Given the description of an element on the screen output the (x, y) to click on. 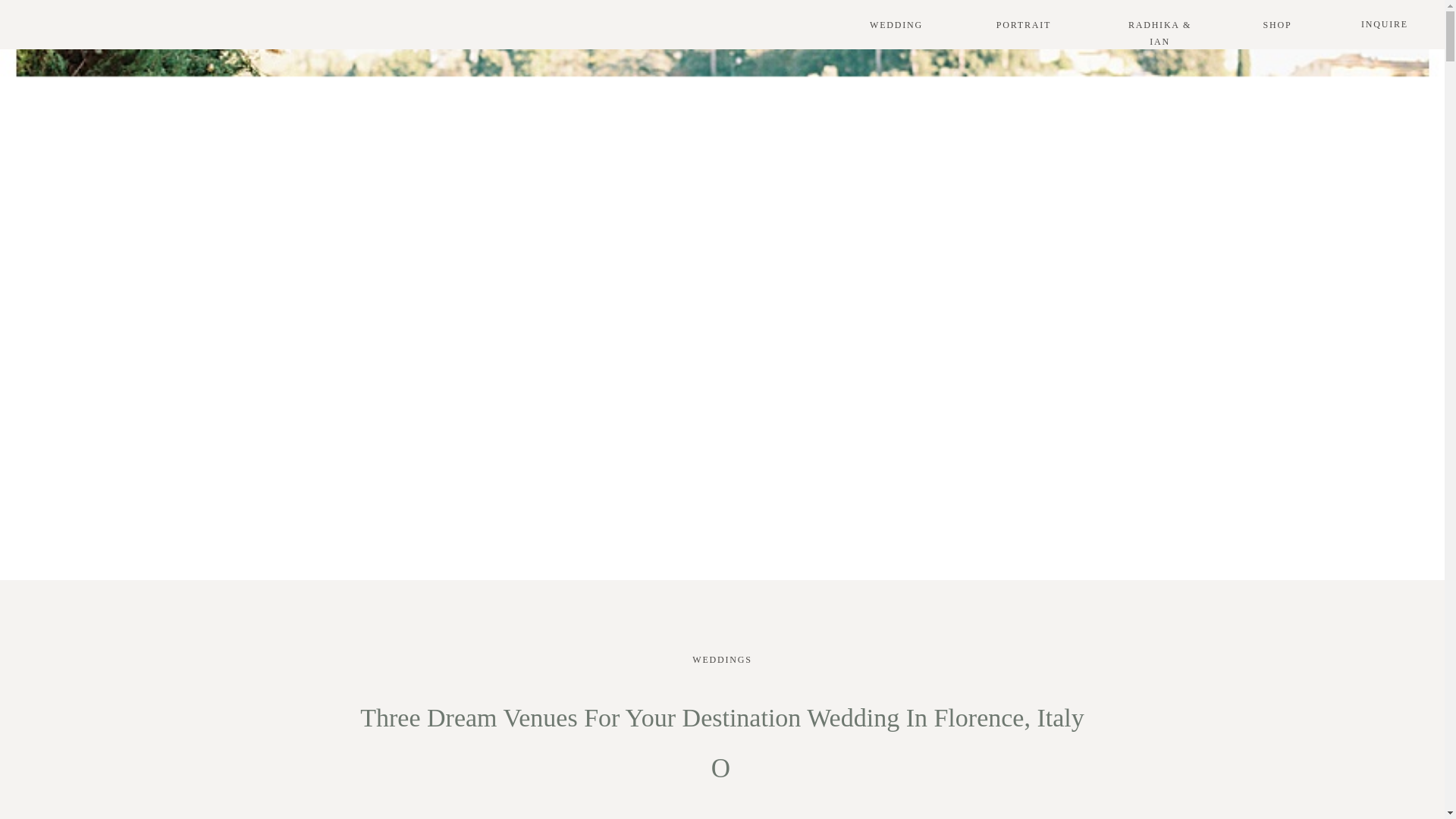
SHOP (1277, 24)
PORTRAIT (1023, 24)
WEDDINGS (722, 659)
WEDDING (896, 24)
INQUIRE (1384, 25)
